Given the description of an element on the screen output the (x, y) to click on. 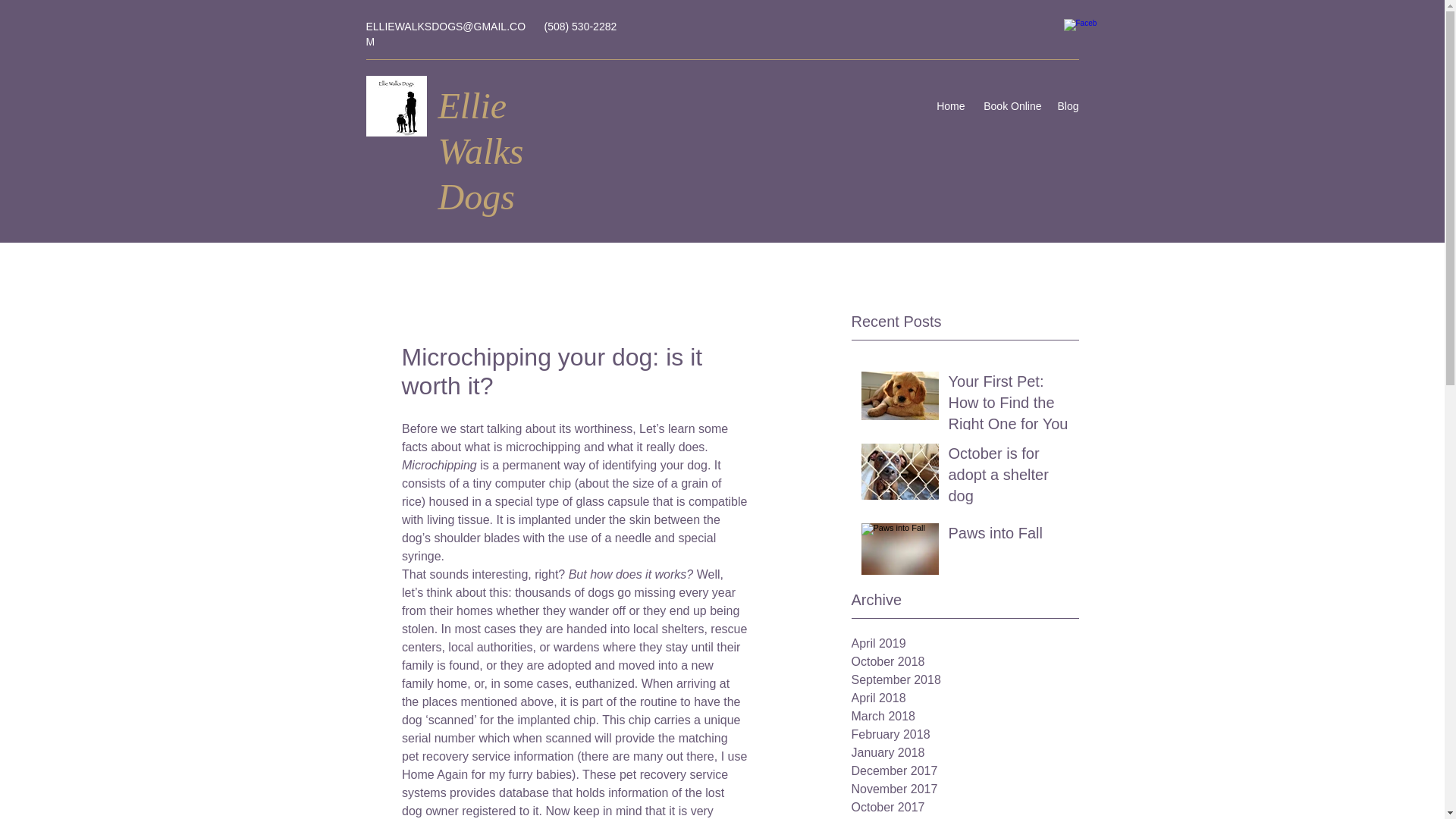
October 2018 (964, 661)
January 2018 (964, 752)
Your First Pet: How to Find the Right One for You (1007, 405)
October 2017 (964, 807)
Home (950, 106)
November 2017 (964, 789)
April 2018 (964, 698)
February 2018 (964, 734)
Blog (1067, 106)
December 2017 (964, 771)
Paws into Fall (1007, 535)
March 2018 (964, 716)
September 2018 (964, 679)
April 2019 (964, 643)
